Given the description of an element on the screen output the (x, y) to click on. 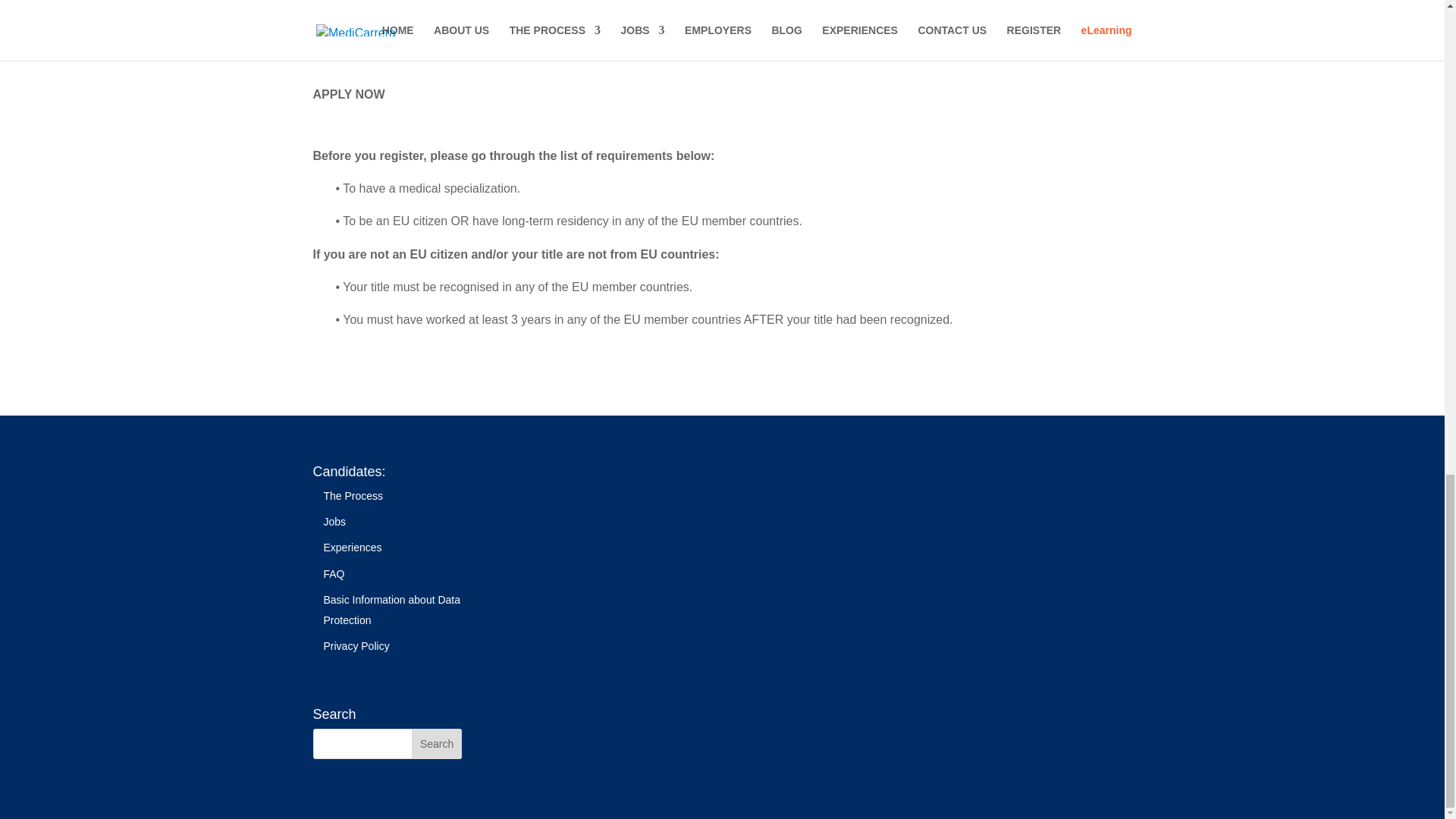
Privacy Policy (355, 645)
Basic Information about Data Protection (391, 609)
Search (436, 743)
Experiences (352, 547)
The Process (352, 495)
FAQ (333, 573)
Search (436, 743)
Jobs (334, 521)
